Given the description of an element on the screen output the (x, y) to click on. 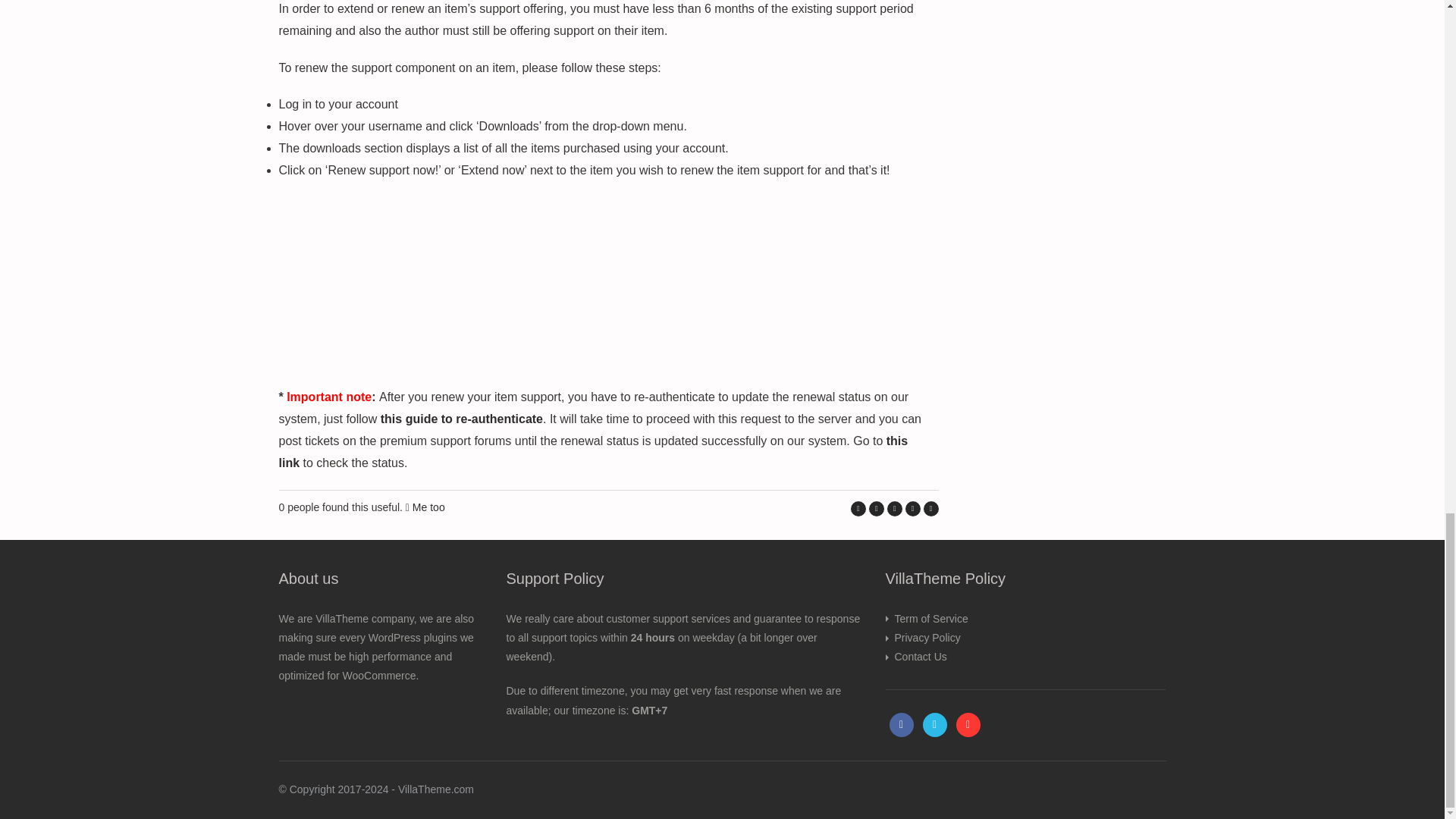
Share on Twitter (876, 508)
Share on Facebooks (858, 508)
Share on Tumblr (912, 508)
Share on Linkedin (894, 508)
